Given the description of an element on the screen output the (x, y) to click on. 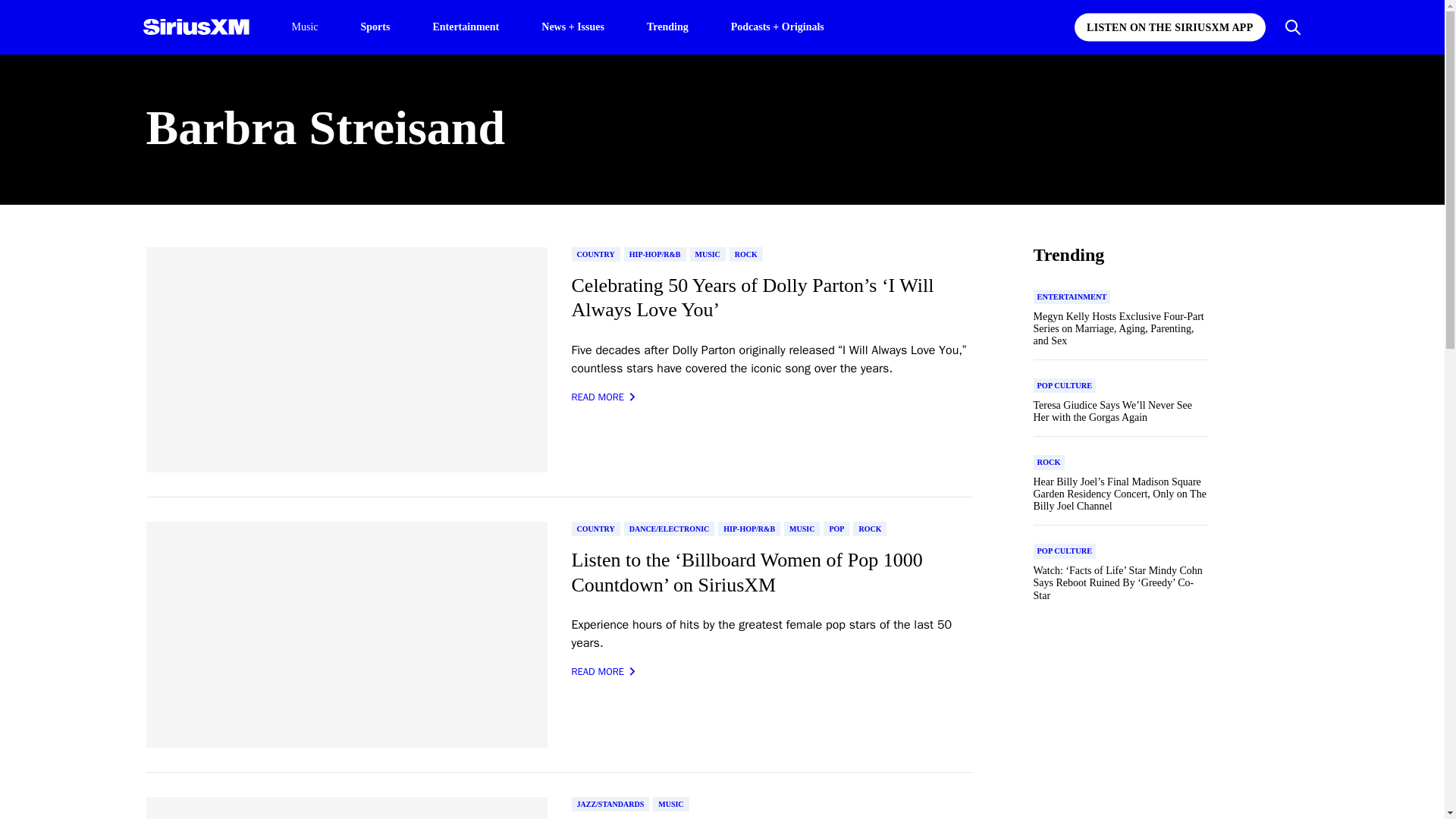
Entertainment (465, 26)
LISTEN ON THE SIRIUSXM APP (1169, 27)
POP (836, 528)
COUNTRY (596, 528)
ROCK (745, 254)
Music (304, 26)
READ MORE (603, 671)
MUSIC (801, 528)
READ MORE (603, 396)
ROCK (869, 528)
